Given the description of an element on the screen output the (x, y) to click on. 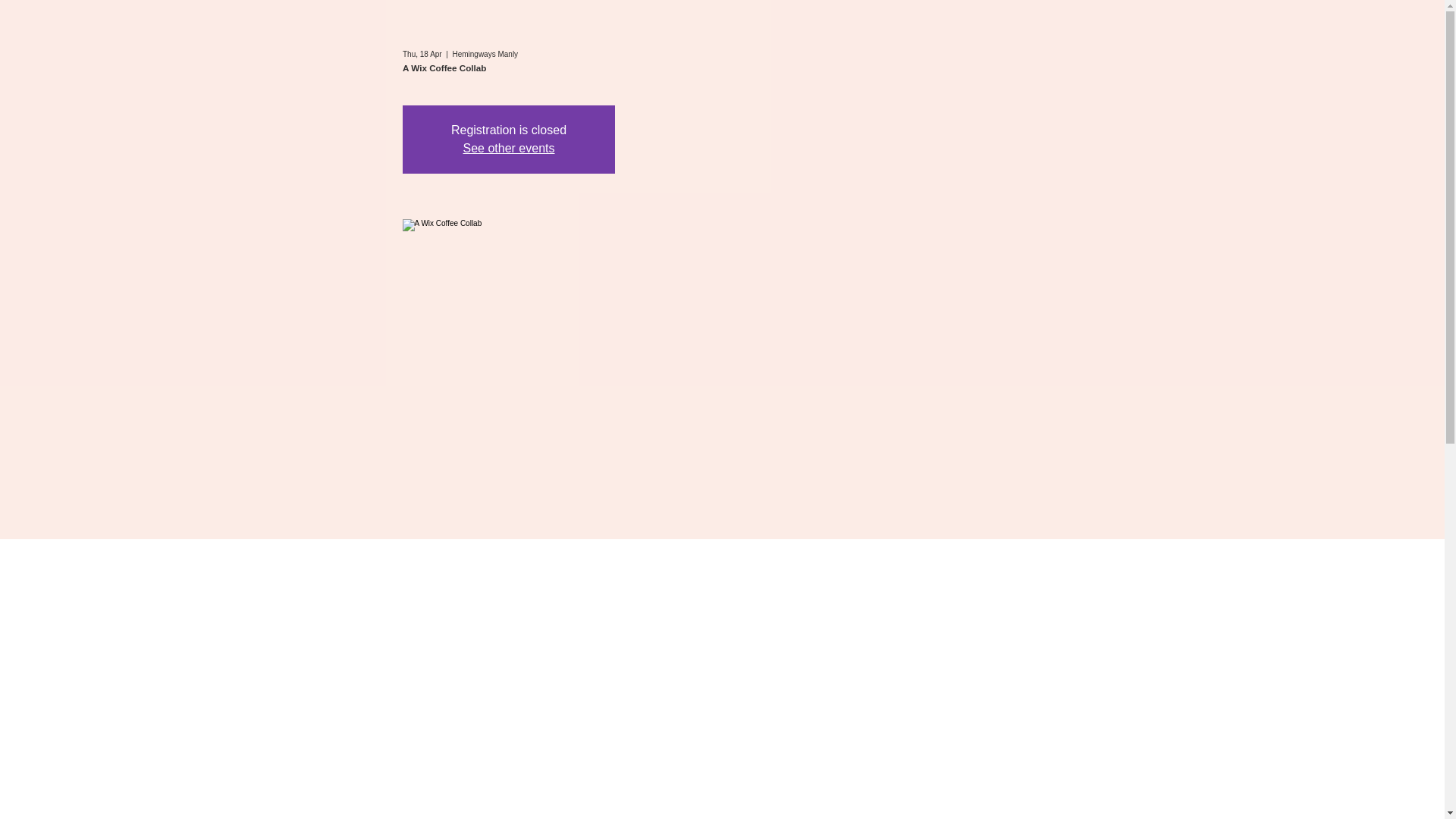
See other events (508, 147)
